Given the description of an element on the screen output the (x, y) to click on. 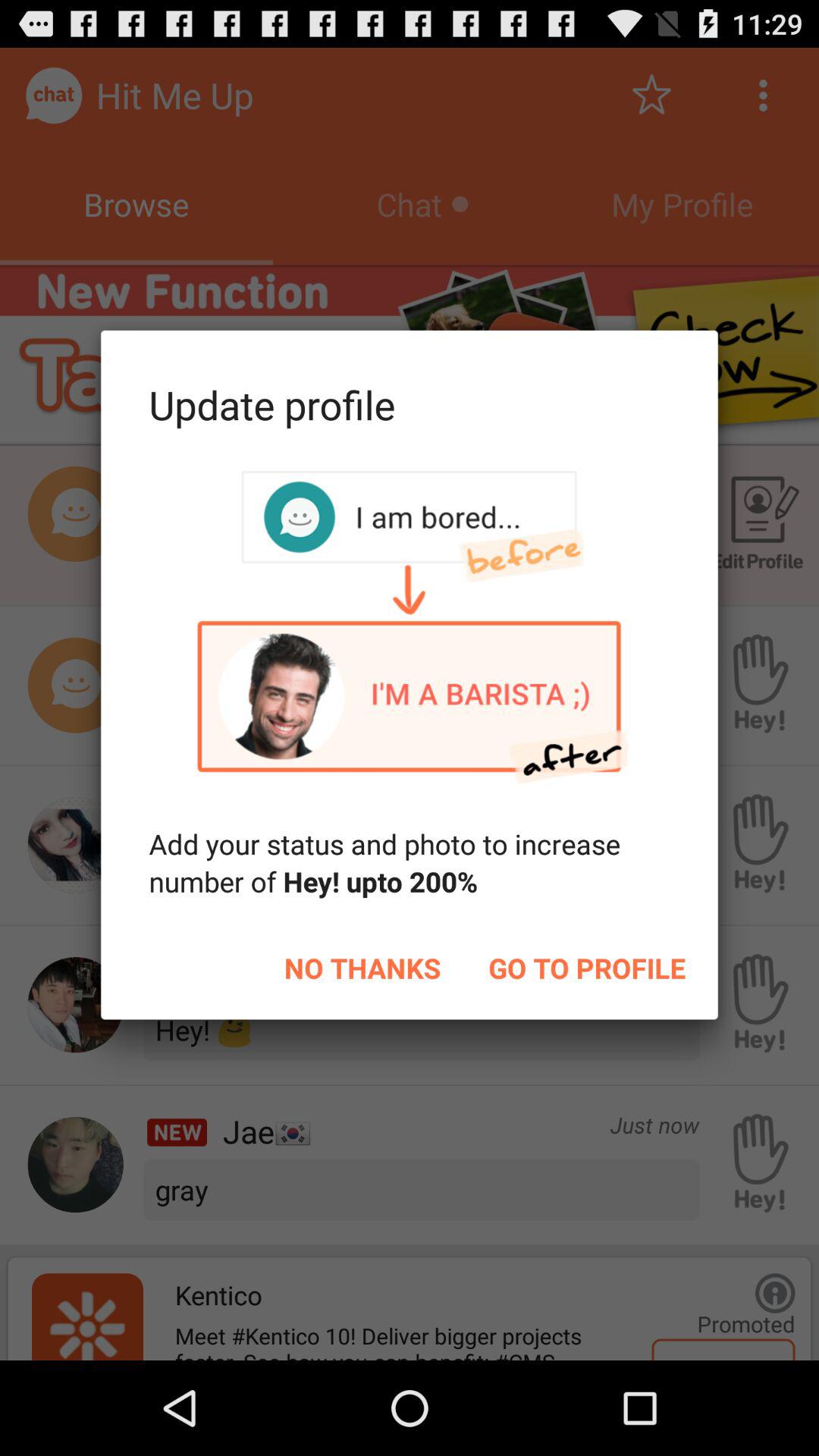
tap app next to go to profile item (362, 967)
